Given the description of an element on the screen output the (x, y) to click on. 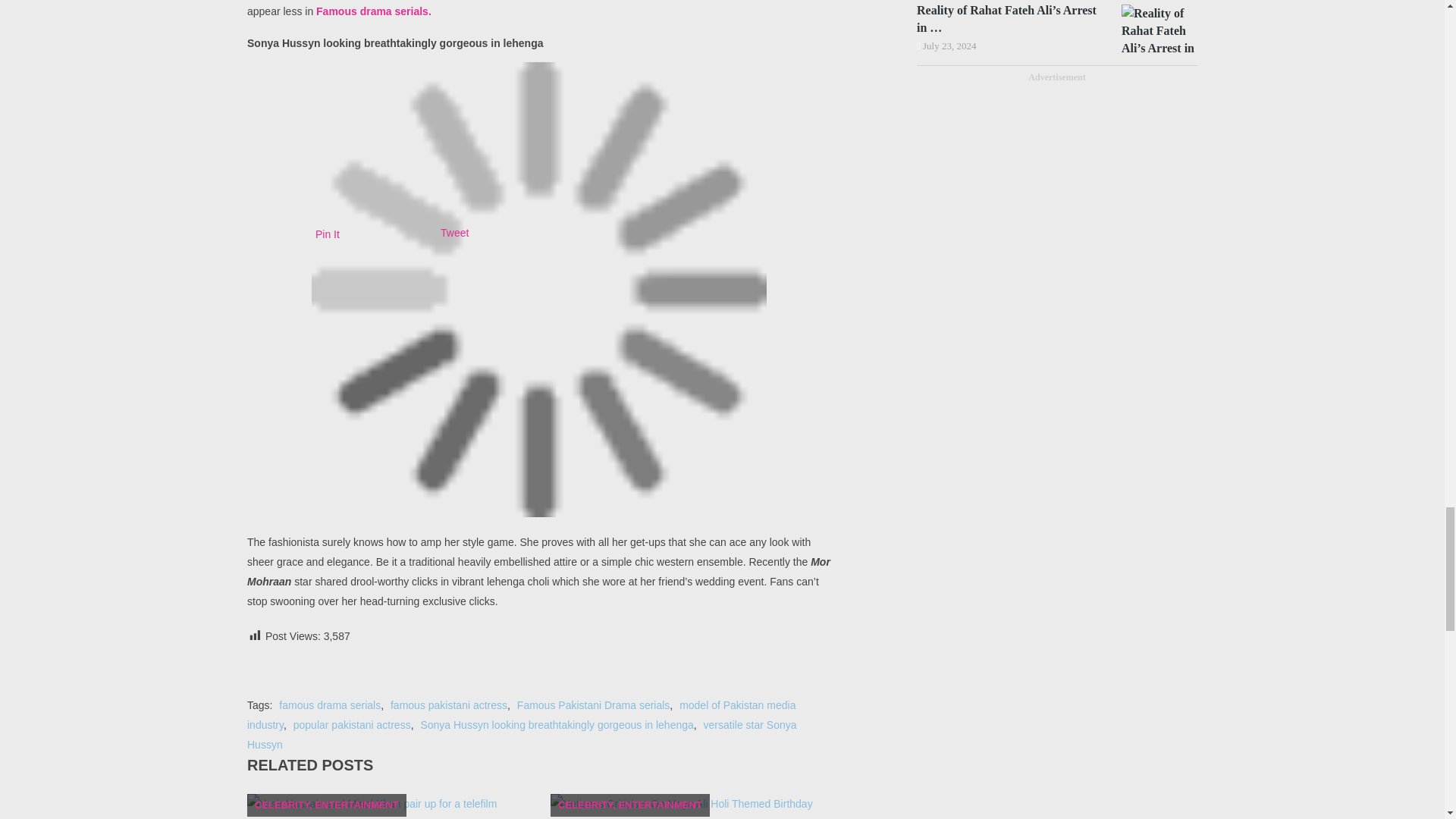
Netizens Criticism On Maya Ali Holi Themed Birthday Party (690, 806)
